Given the description of an element on the screen output the (x, y) to click on. 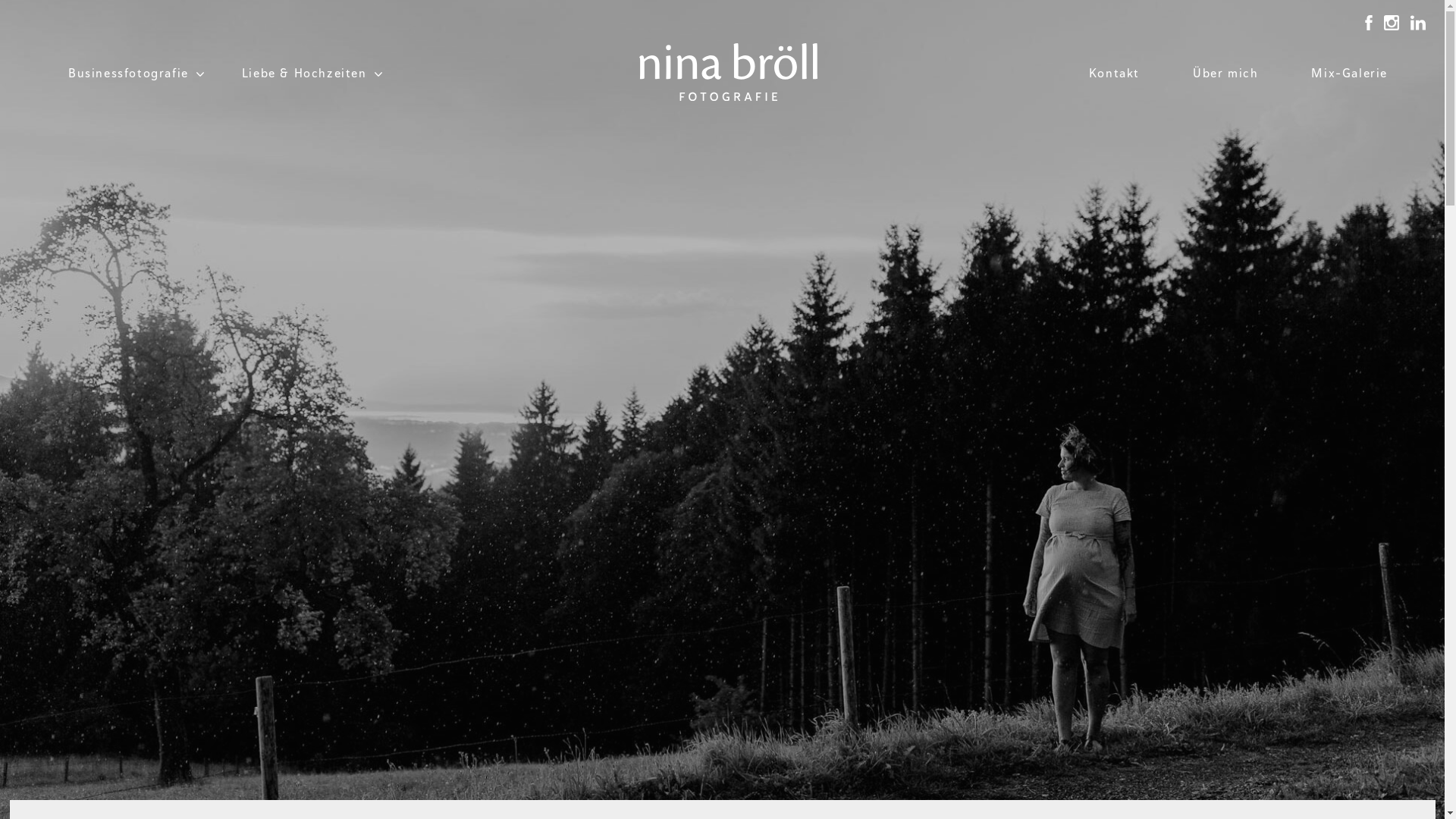
Businessfotografie Element type: text (128, 75)
Mix-Galerie Element type: text (1349, 75)
Kontakt Element type: text (1113, 75)
Liebe & Hochzeiten Element type: text (304, 75)
